Given the description of an element on the screen output the (x, y) to click on. 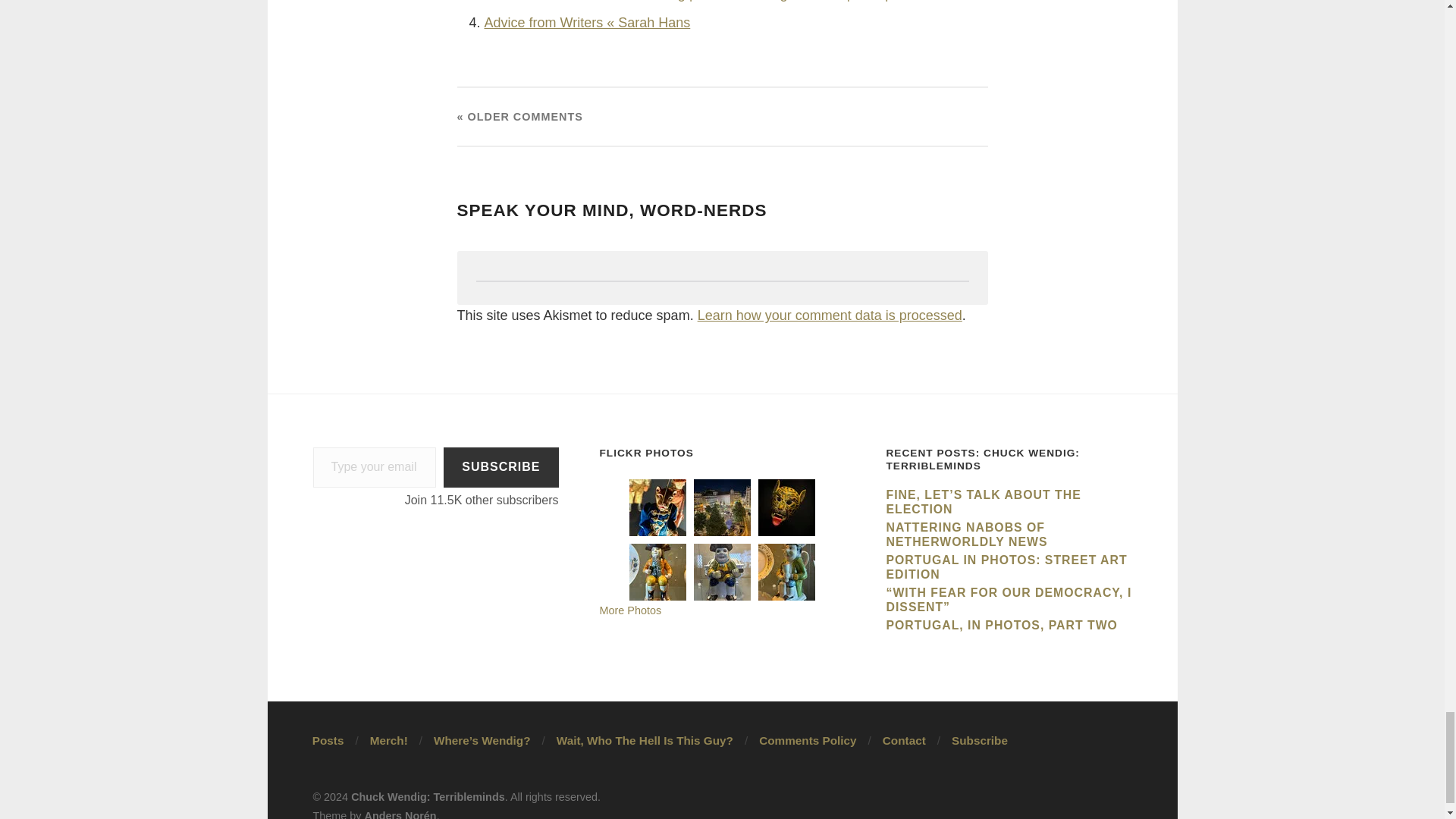
Please fill in this field. (374, 467)
